Given the description of an element on the screen output the (x, y) to click on. 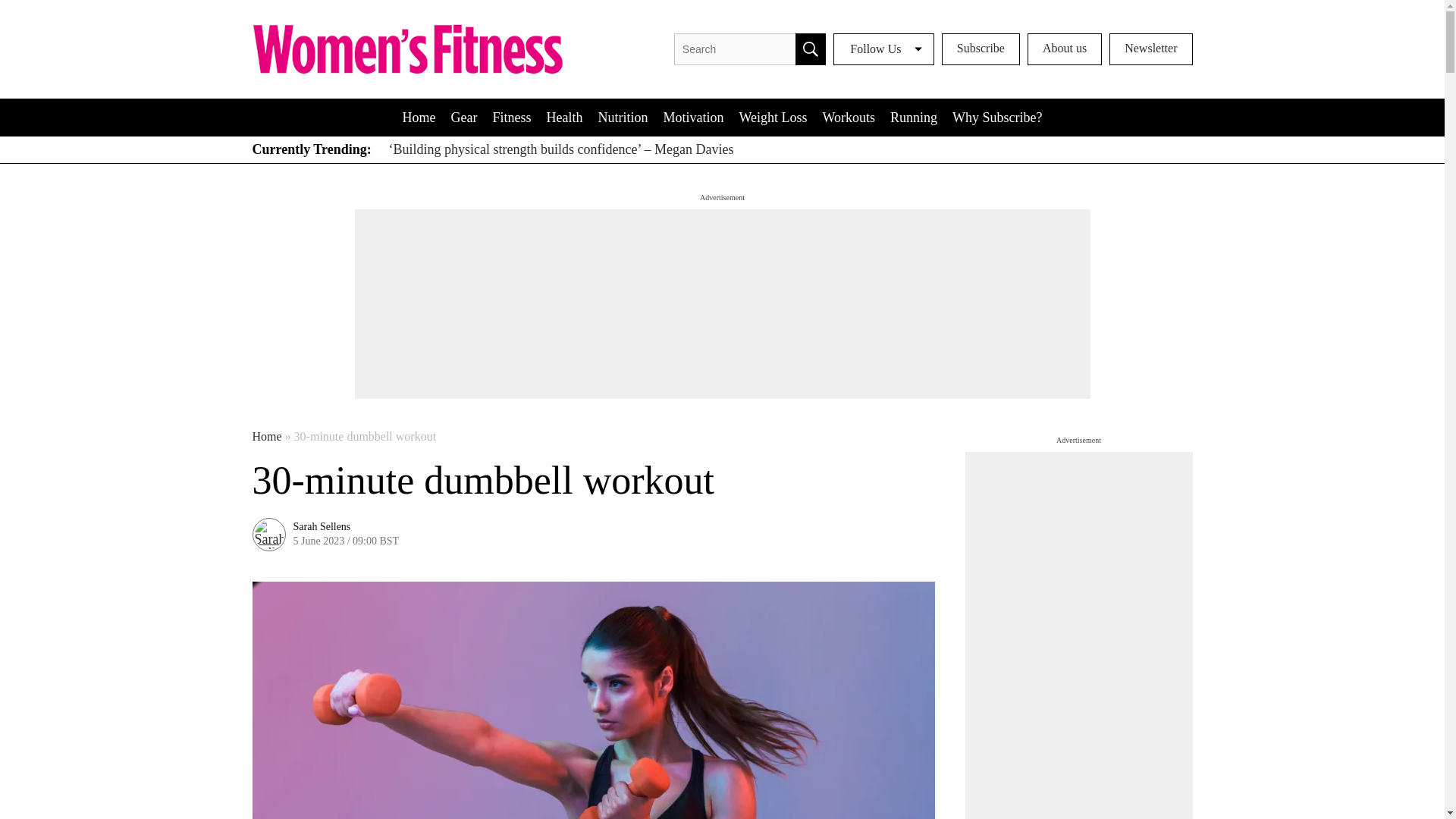
Gear (463, 117)
Nutrition (622, 117)
Motivation (692, 117)
Newsletter (1150, 49)
Running (913, 117)
Fitness (511, 117)
Home (266, 436)
Follow Us (883, 49)
Health (563, 117)
About us (1064, 49)
Sarah Sellens (321, 526)
Search (809, 49)
Home (418, 117)
Subscribe (981, 49)
Why Subscribe? (996, 117)
